Given the description of an element on the screen output the (x, y) to click on. 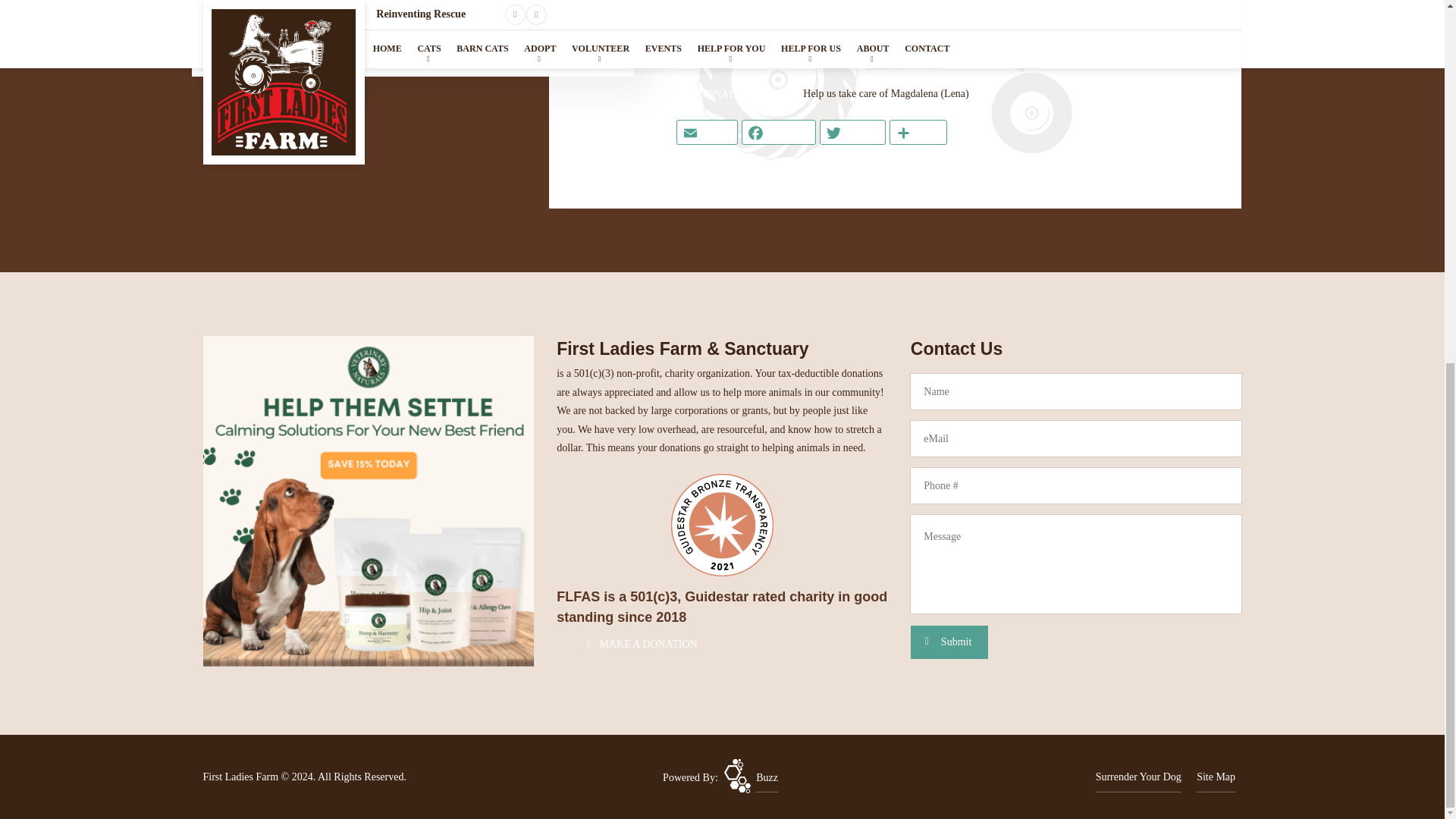
Facebook (778, 131)
Twitter (852, 131)
MAKE A DONATION (634, 644)
DONATE NOW (730, 93)
Facebook (778, 131)
Submit (949, 642)
Twitter (852, 131)
First Ladies Farm's Sponsor (368, 500)
Donate (634, 644)
Submit (949, 642)
Buzz (750, 777)
Email (707, 131)
Email (707, 131)
